Given the description of an element on the screen output the (x, y) to click on. 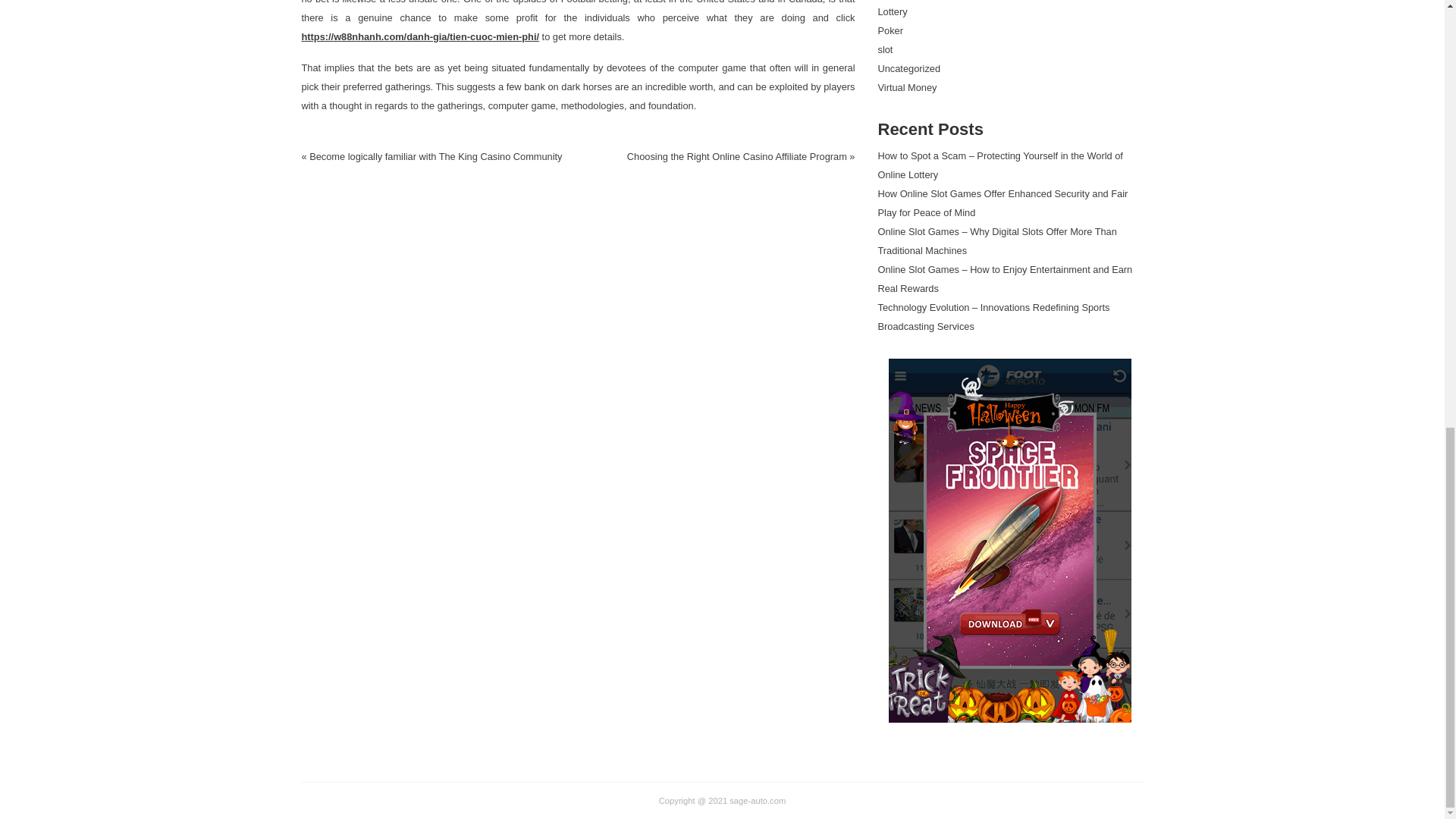
slot (885, 49)
Uncategorized (908, 68)
Become logically familiar with The King Casino Community (435, 156)
Poker (889, 30)
Lottery (892, 11)
Virtual Money (907, 87)
Choosing the Right Online Casino Affiliate Program (737, 156)
